Given the description of an element on the screen output the (x, y) to click on. 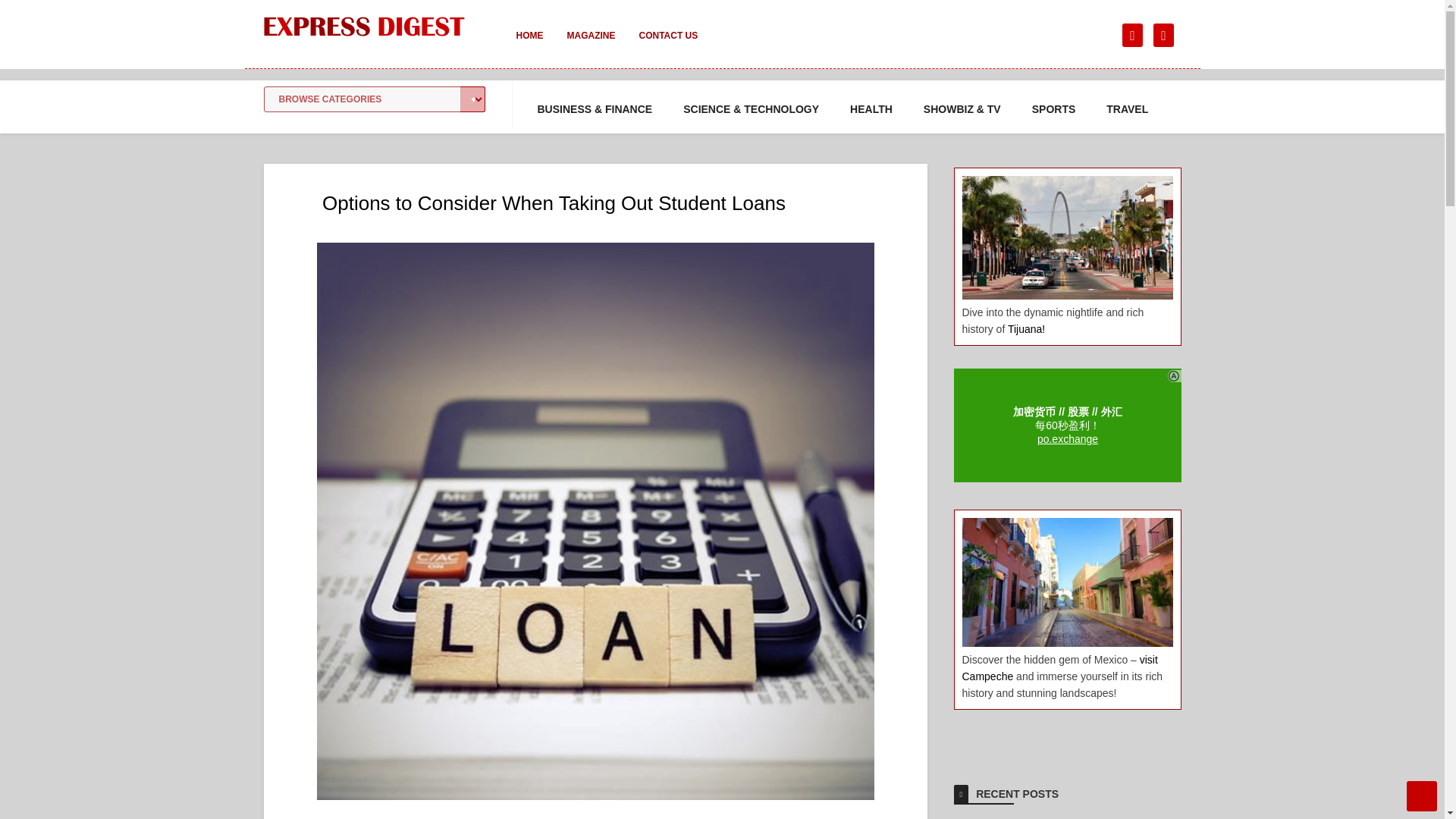
MAGAZINE (590, 45)
visit Campeche (1058, 667)
CONTACT US (667, 45)
HEALTH (871, 109)
SPORTS (1053, 109)
Tijuana! (1026, 328)
TRAVEL (1127, 109)
